Given the description of an element on the screen output the (x, y) to click on. 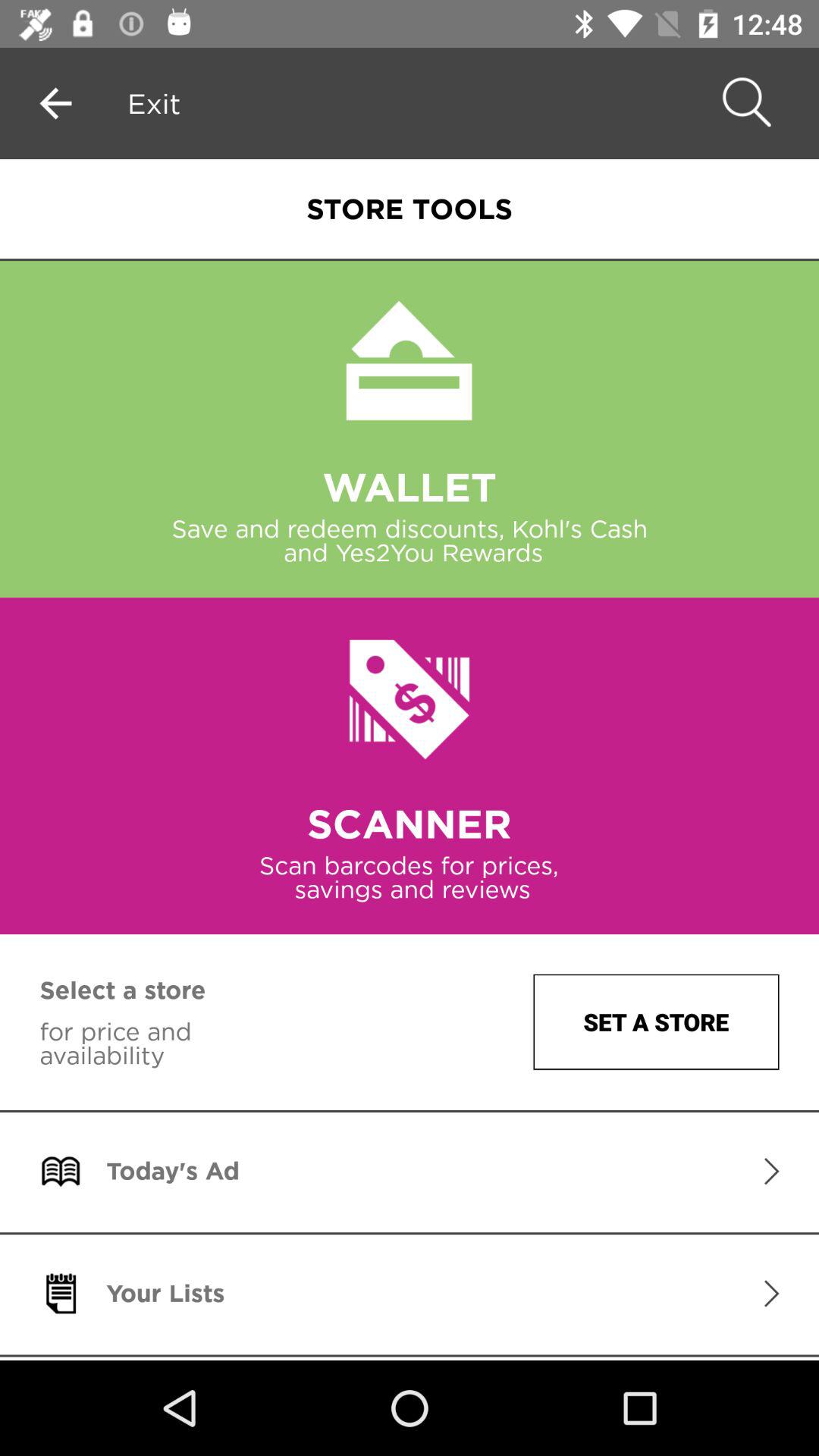
for search (744, 103)
